Given the description of an element on the screen output the (x, y) to click on. 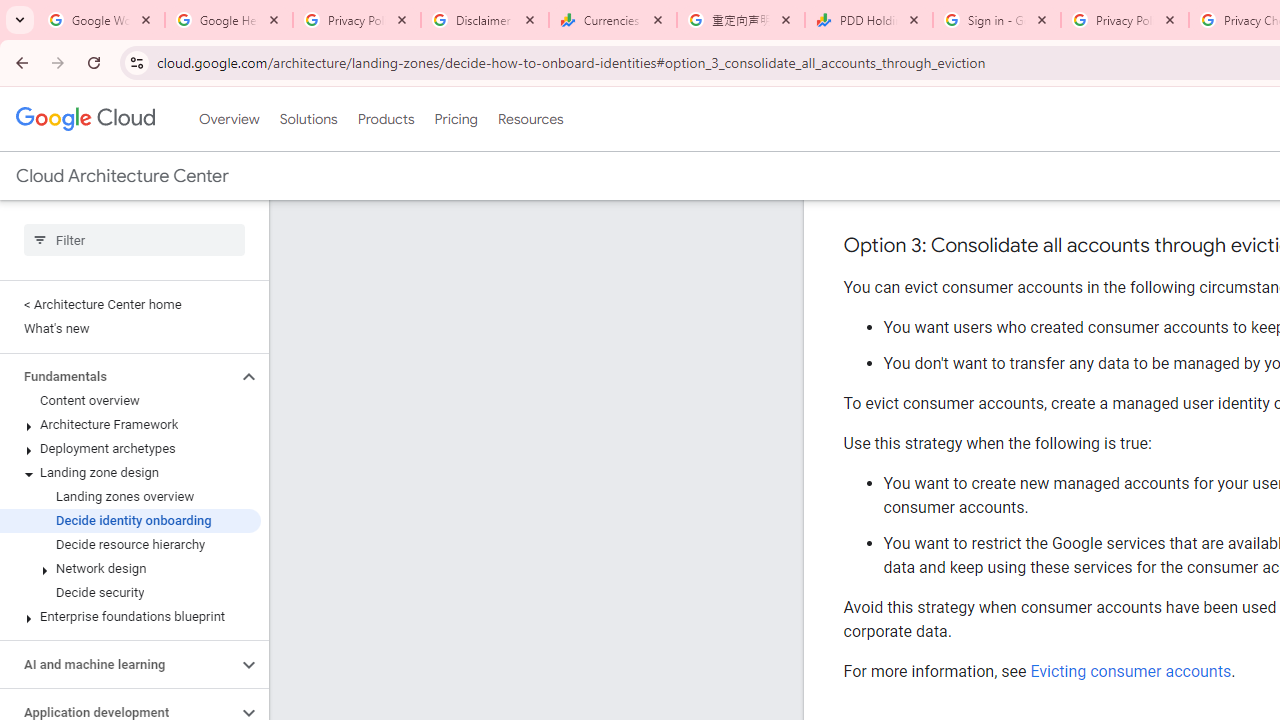
Decide security (130, 592)
Architecture Framework (130, 425)
Solutions (308, 119)
Landing zone design (130, 472)
Sign in - Google Accounts (997, 20)
Deployment archetypes (130, 448)
PDD Holdings Inc - ADR (PDD) Price & News - Google Finance (869, 20)
Evicting consumer accounts (1130, 671)
What's new (130, 328)
Currencies - Google Finance (613, 20)
